Given the description of an element on the screen output the (x, y) to click on. 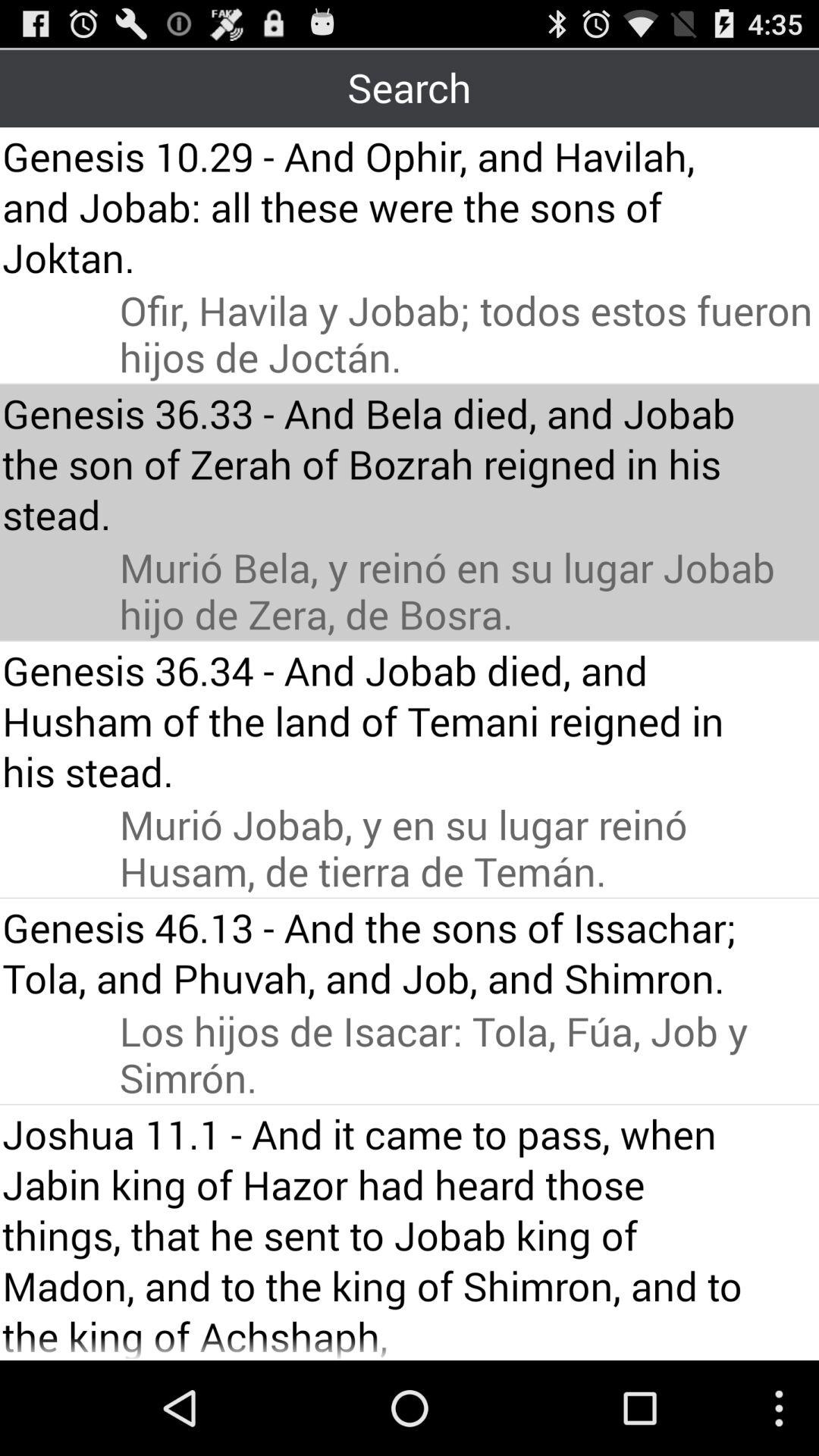
click item below los hijos de item (380, 1233)
